Given the description of an element on the screen output the (x, y) to click on. 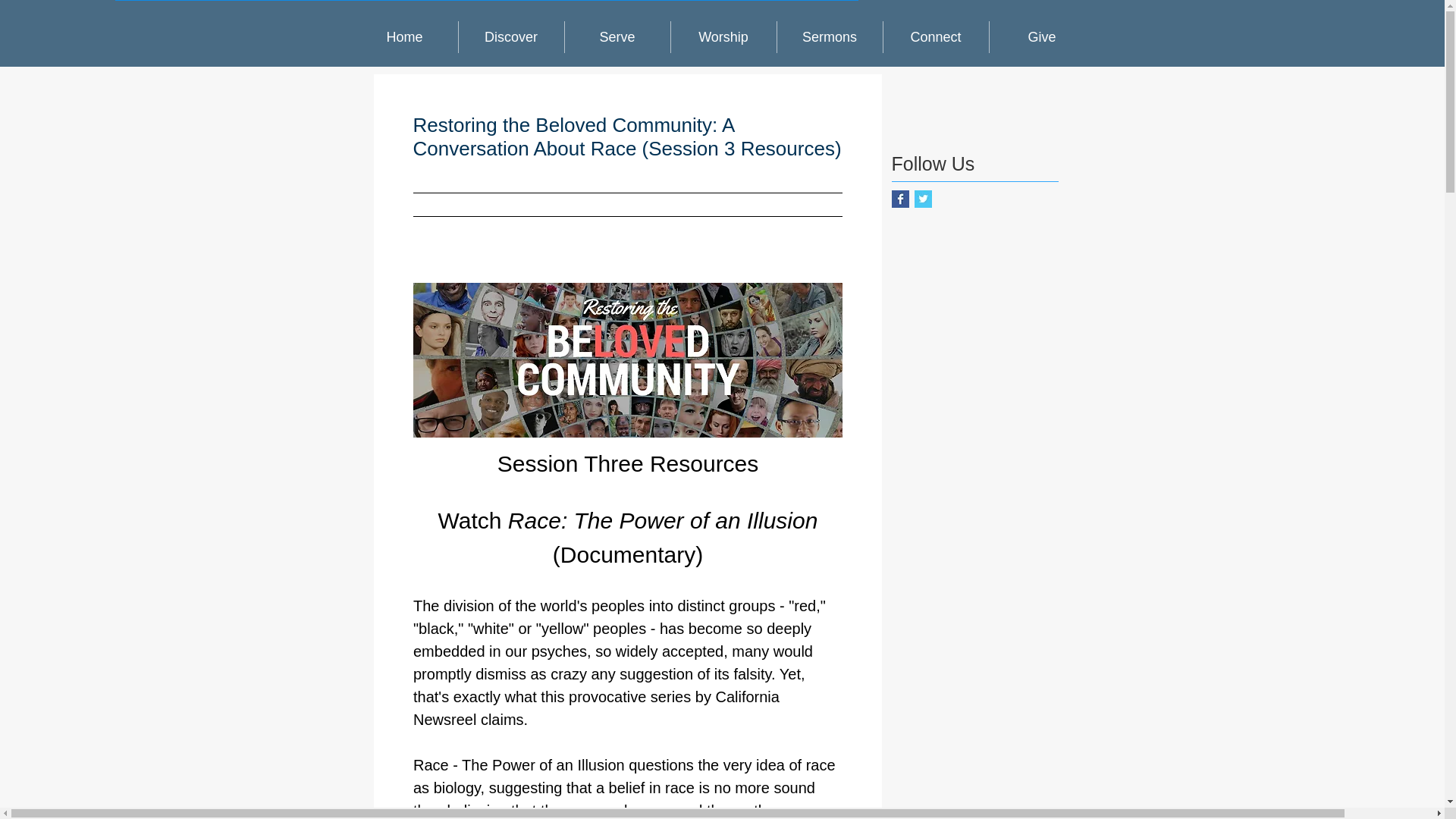
Serve (616, 37)
Connect (935, 37)
Give (1041, 37)
Worship (722, 37)
Home (405, 37)
Sermons (829, 37)
Discover (510, 37)
